Given the description of an element on the screen output the (x, y) to click on. 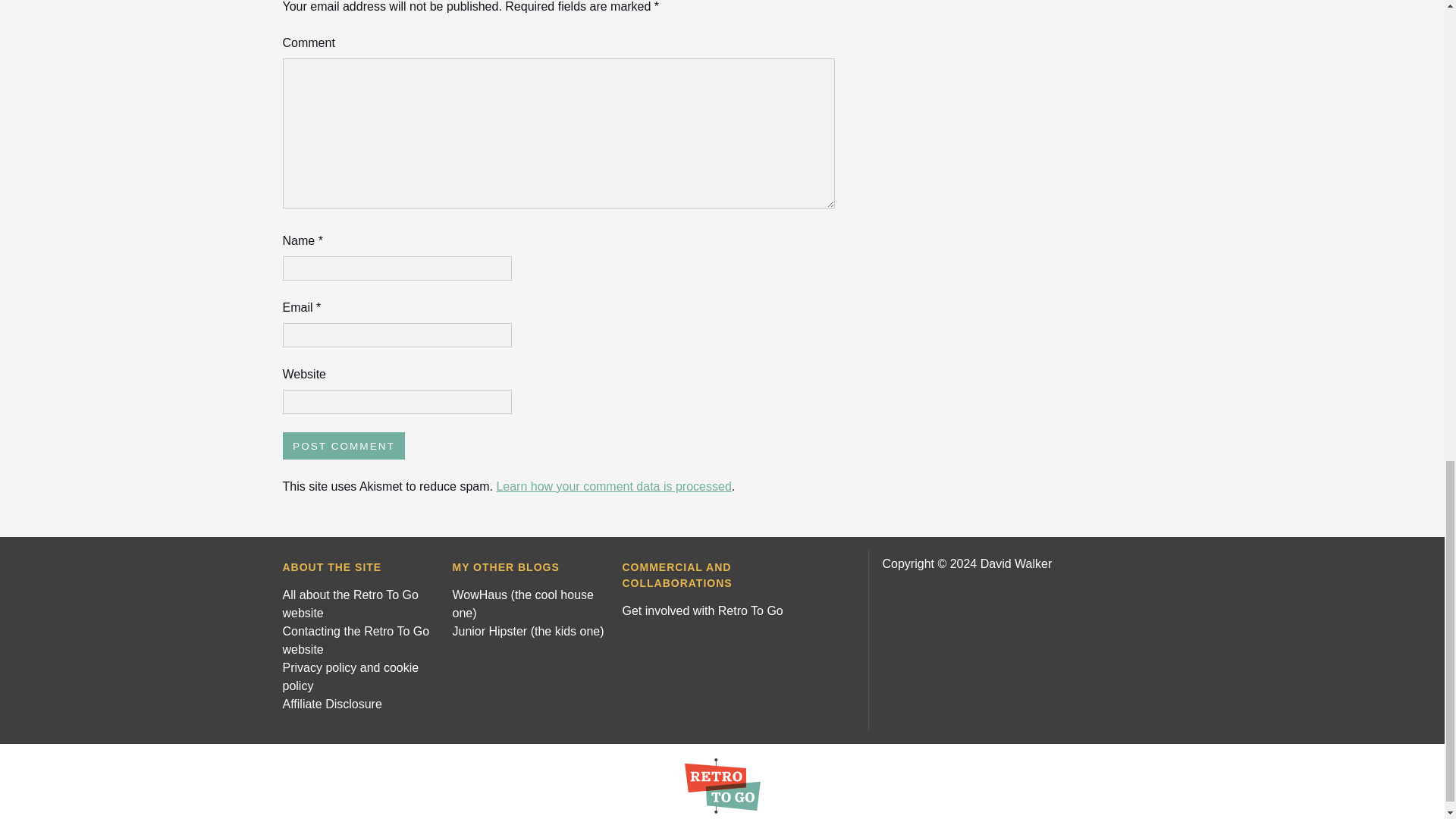
Post Comment (343, 445)
Learn how your comment data is processed (613, 486)
Post Comment (343, 445)
